Given the description of an element on the screen output the (x, y) to click on. 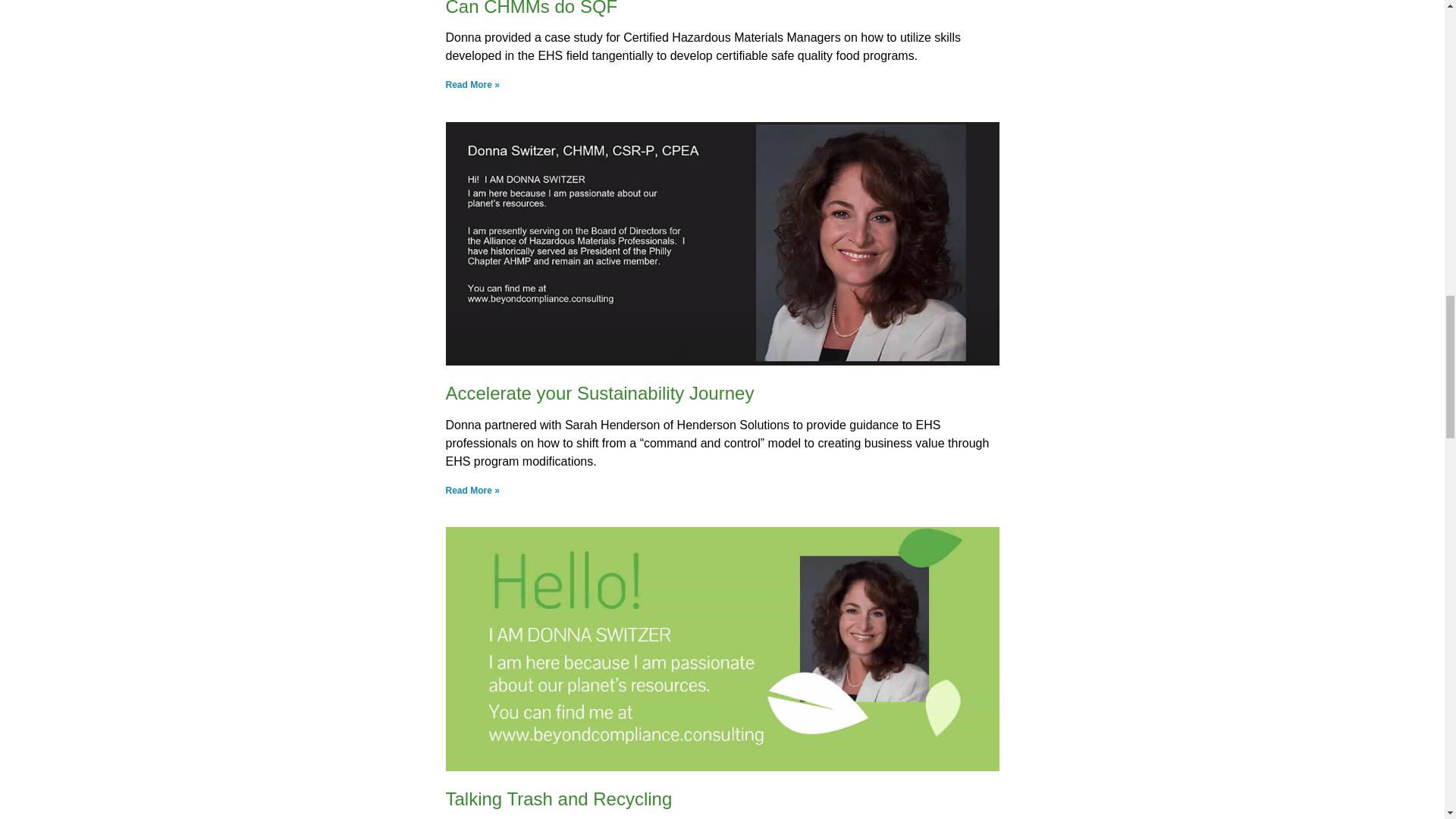
Can CHMMs do SQF (531, 8)
Accelerate your Sustainability Journey (599, 393)
Talking Trash and Recycling (558, 798)
